Given the description of an element on the screen output the (x, y) to click on. 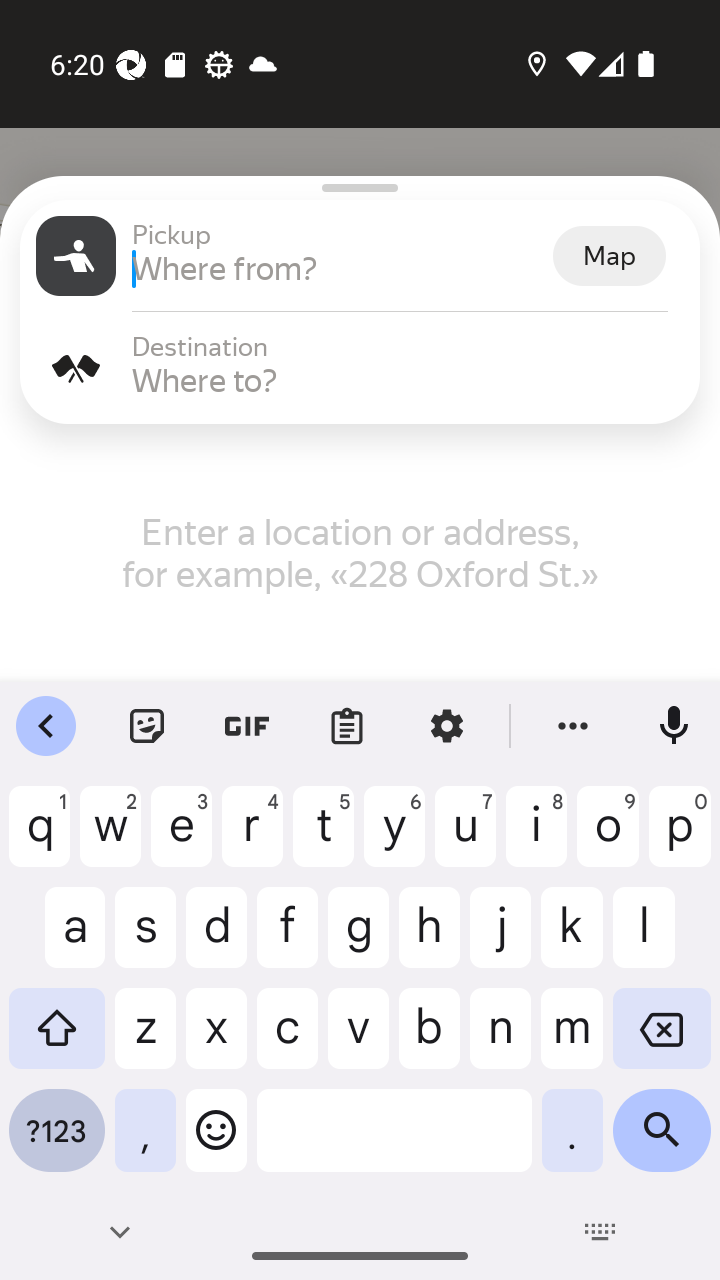
Pickup Pickup Where from? Map (359, 255)
Map (609, 256)
Where from? (340, 268)
Destination Destination Where to? (359, 367)
Where to? (407, 380)
